Given the description of an element on the screen output the (x, y) to click on. 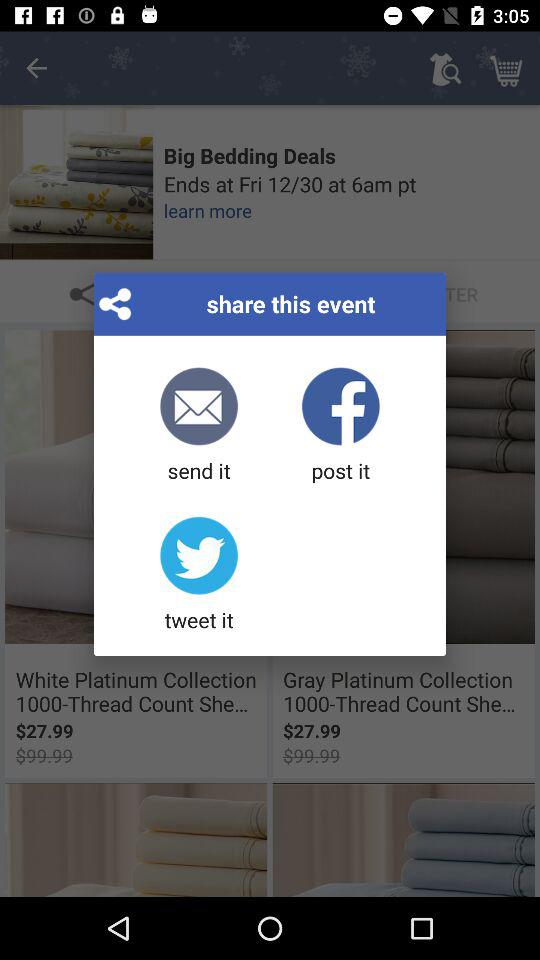
click item to the left of post it (198, 425)
